Given the description of an element on the screen output the (x, y) to click on. 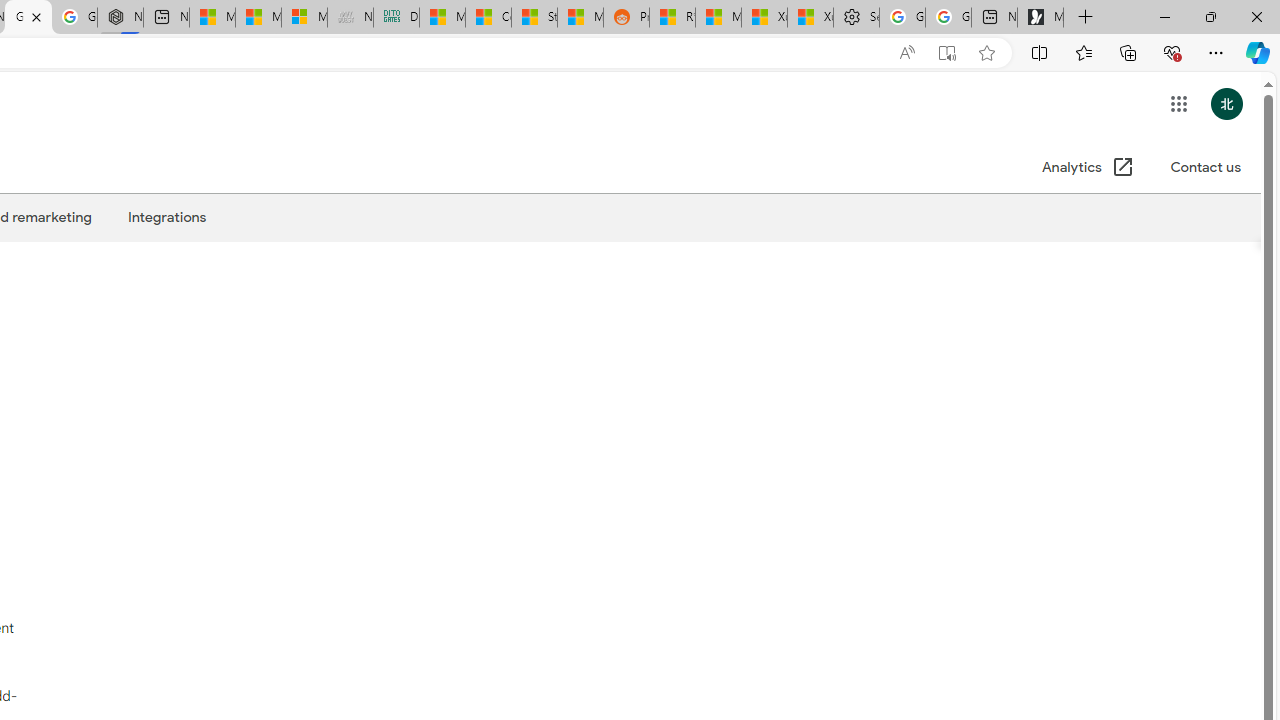
Enter Immersive Reader (F9) (946, 53)
MSN (580, 17)
Stocks - MSN (534, 17)
DITOGAMES AG Imprint (395, 17)
R******* | Trusted Community Engagement and Contributions (672, 17)
